Given the description of an element on the screen output the (x, y) to click on. 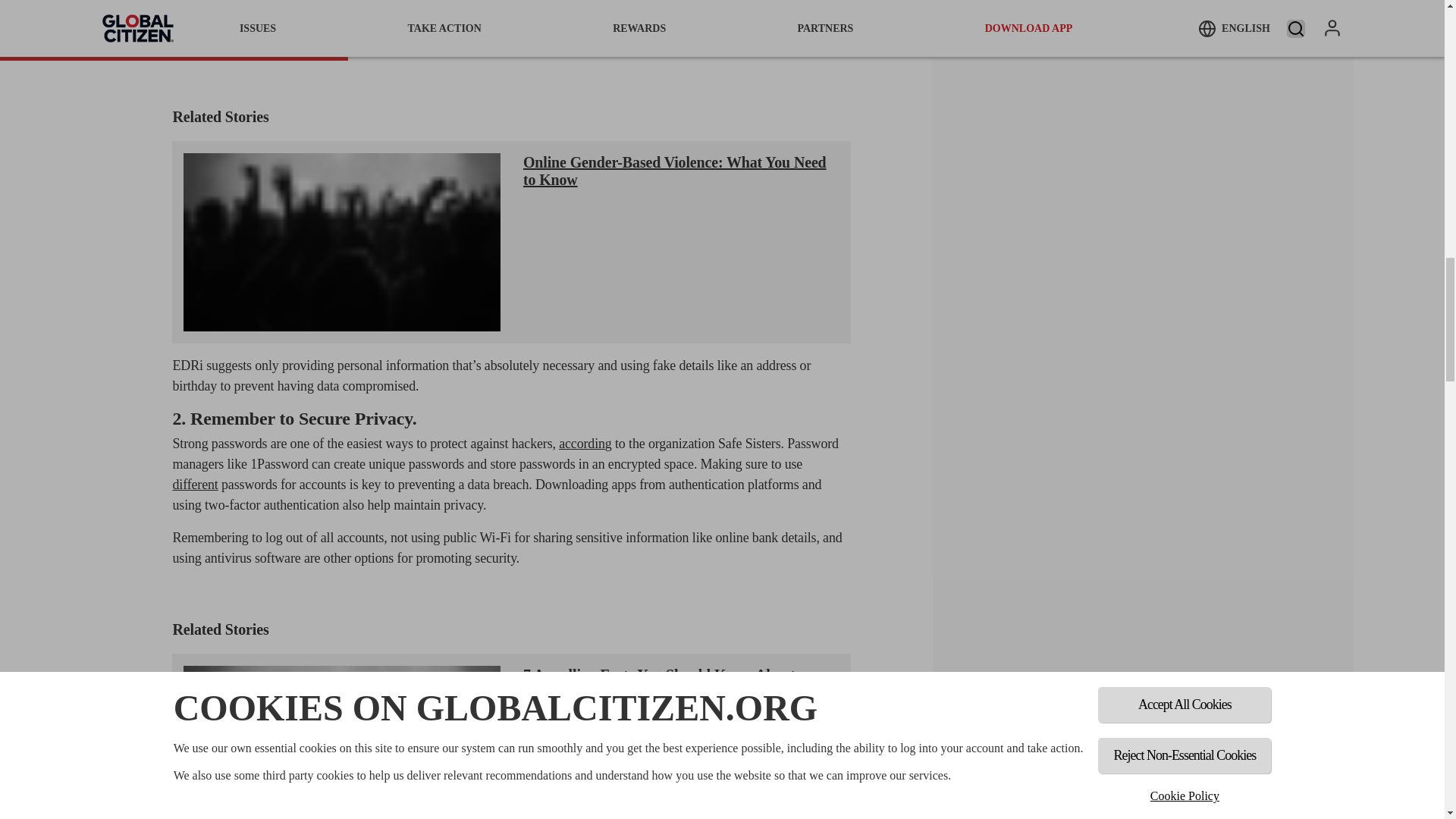
Online Gender-Based Violence: What You Need to Know (341, 242)
Online Gender-Based Violence: What You Need to Know (674, 170)
